Given the description of an element on the screen output the (x, y) to click on. 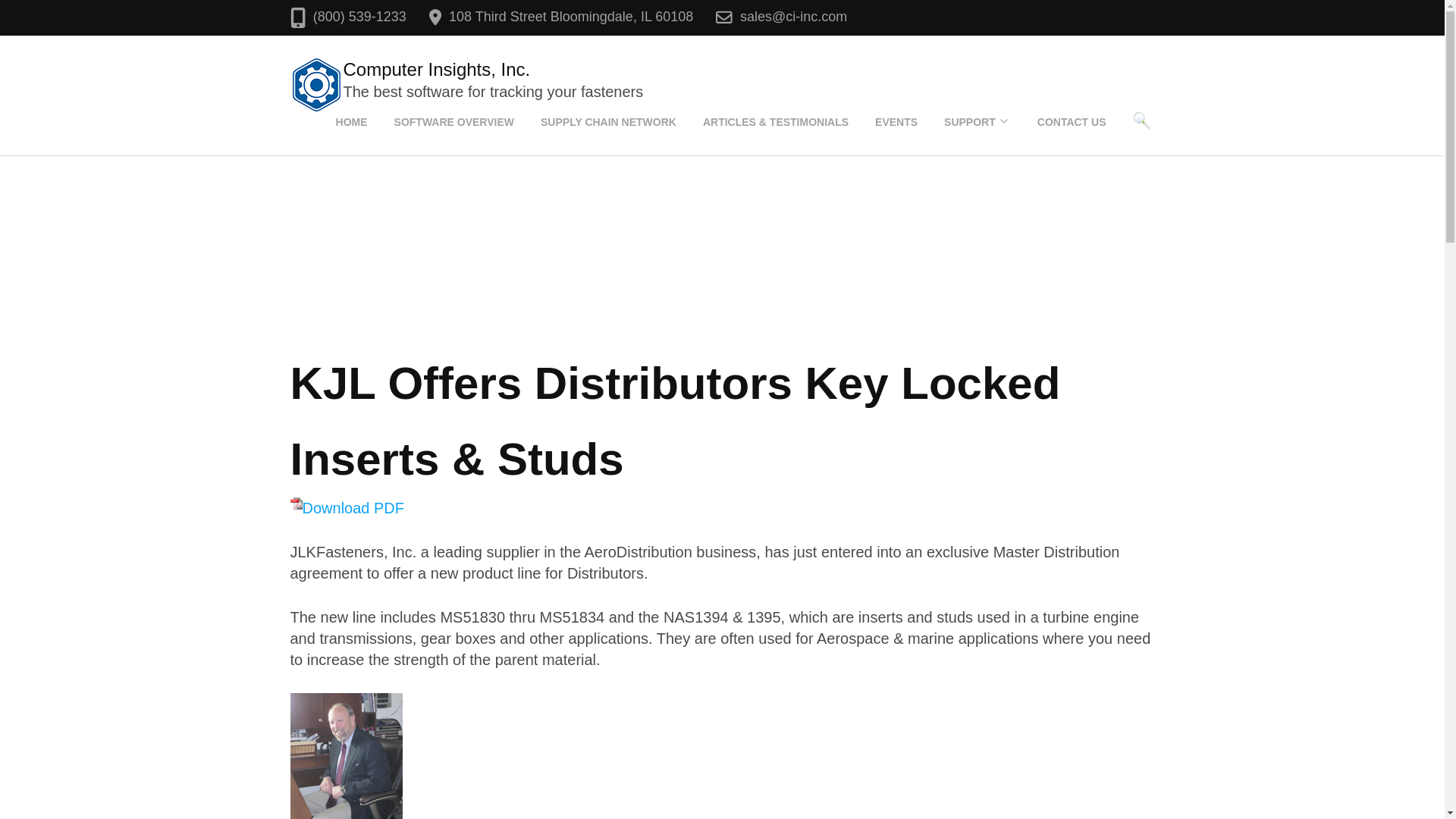
CONTACT US (1071, 121)
SUPPORT (969, 121)
SOFTWARE OVERVIEW (454, 121)
HOME (351, 121)
Download PDF (346, 507)
Download PDF (346, 507)
SUPPLY CHAIN NETWORK (608, 121)
Computer Insights, Inc. (435, 68)
EVENTS (895, 121)
